Given the description of an element on the screen output the (x, y) to click on. 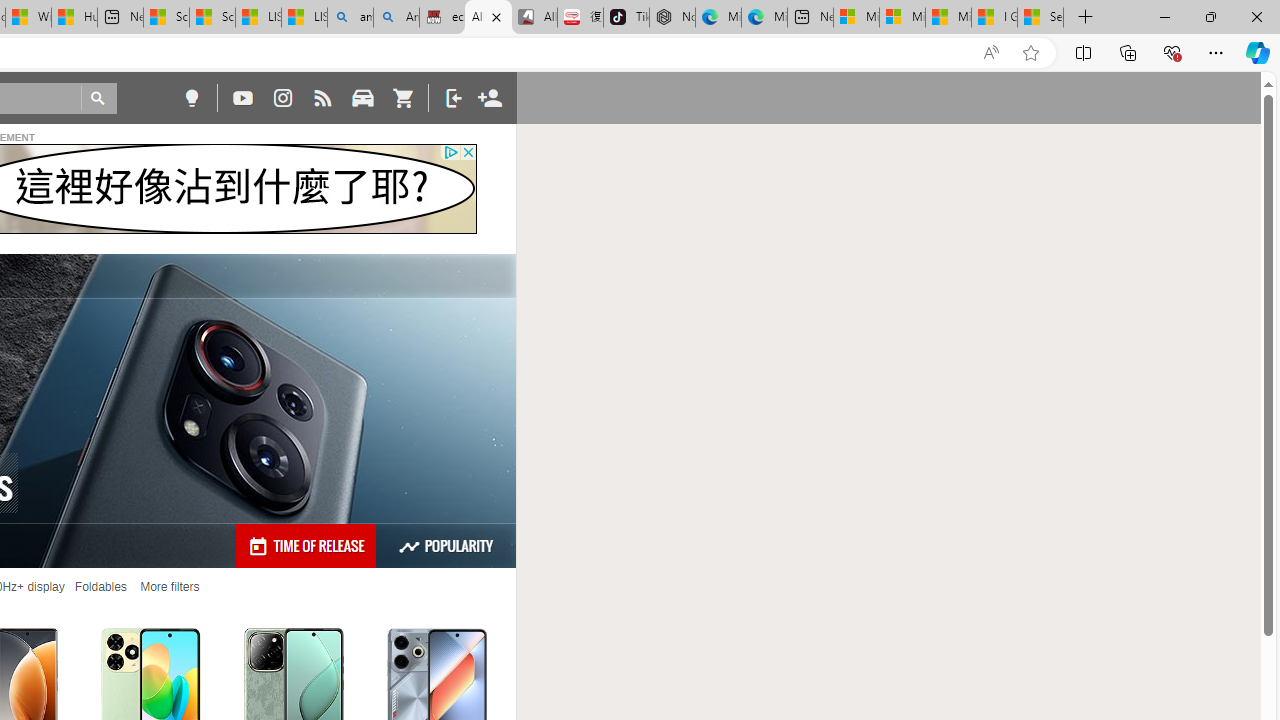
New tab (810, 17)
Huge shark washes ashore at New York City beach | Watch (74, 17)
Microsoft Start (948, 17)
New Tab (1085, 17)
Close (1256, 16)
Copilot (Ctrl+Shift+.) (1258, 52)
Add this page to favorites (Ctrl+D) (1030, 53)
